Given the description of an element on the screen output the (x, y) to click on. 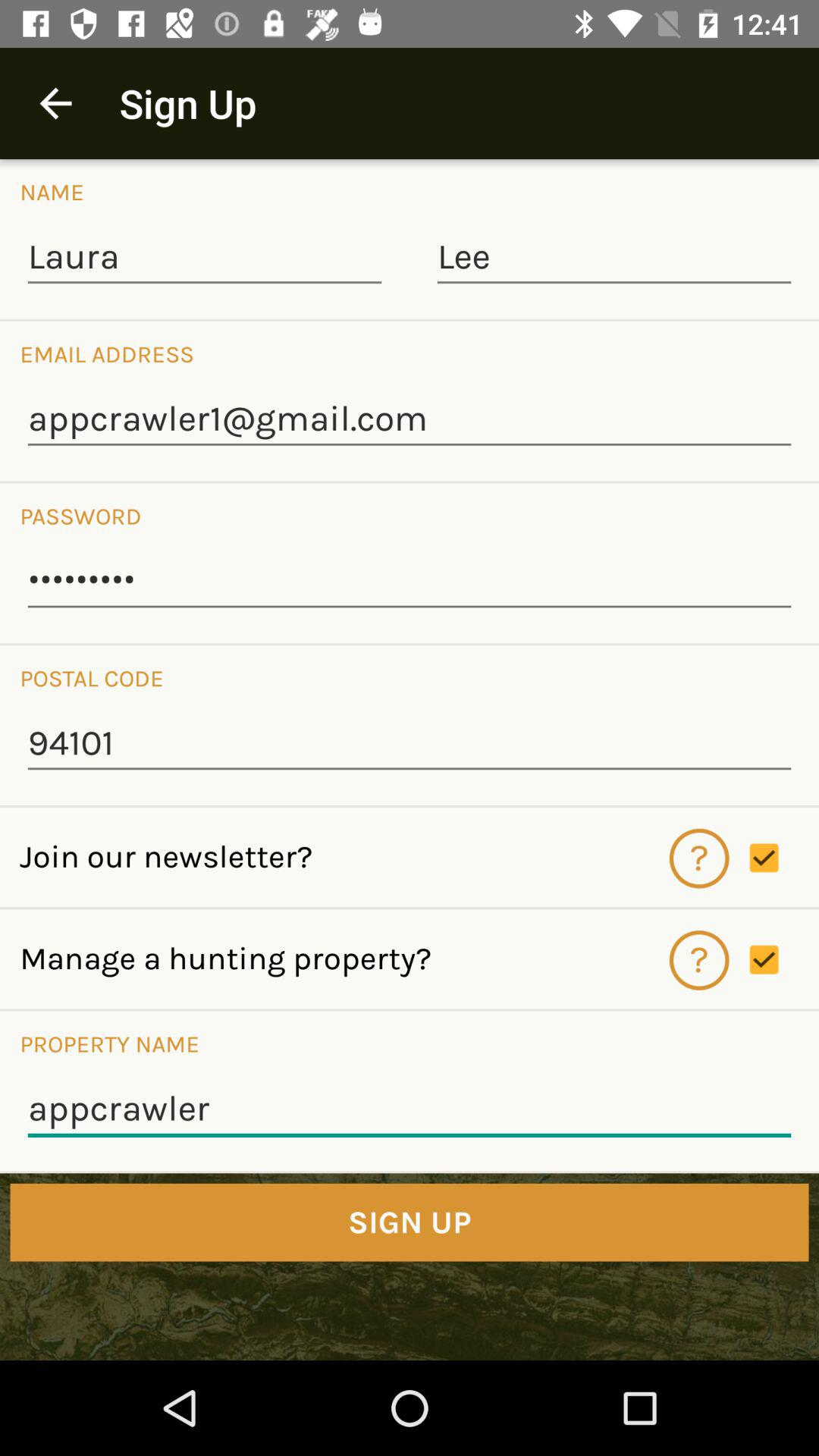
option filled (784, 857)
